Given the description of an element on the screen output the (x, y) to click on. 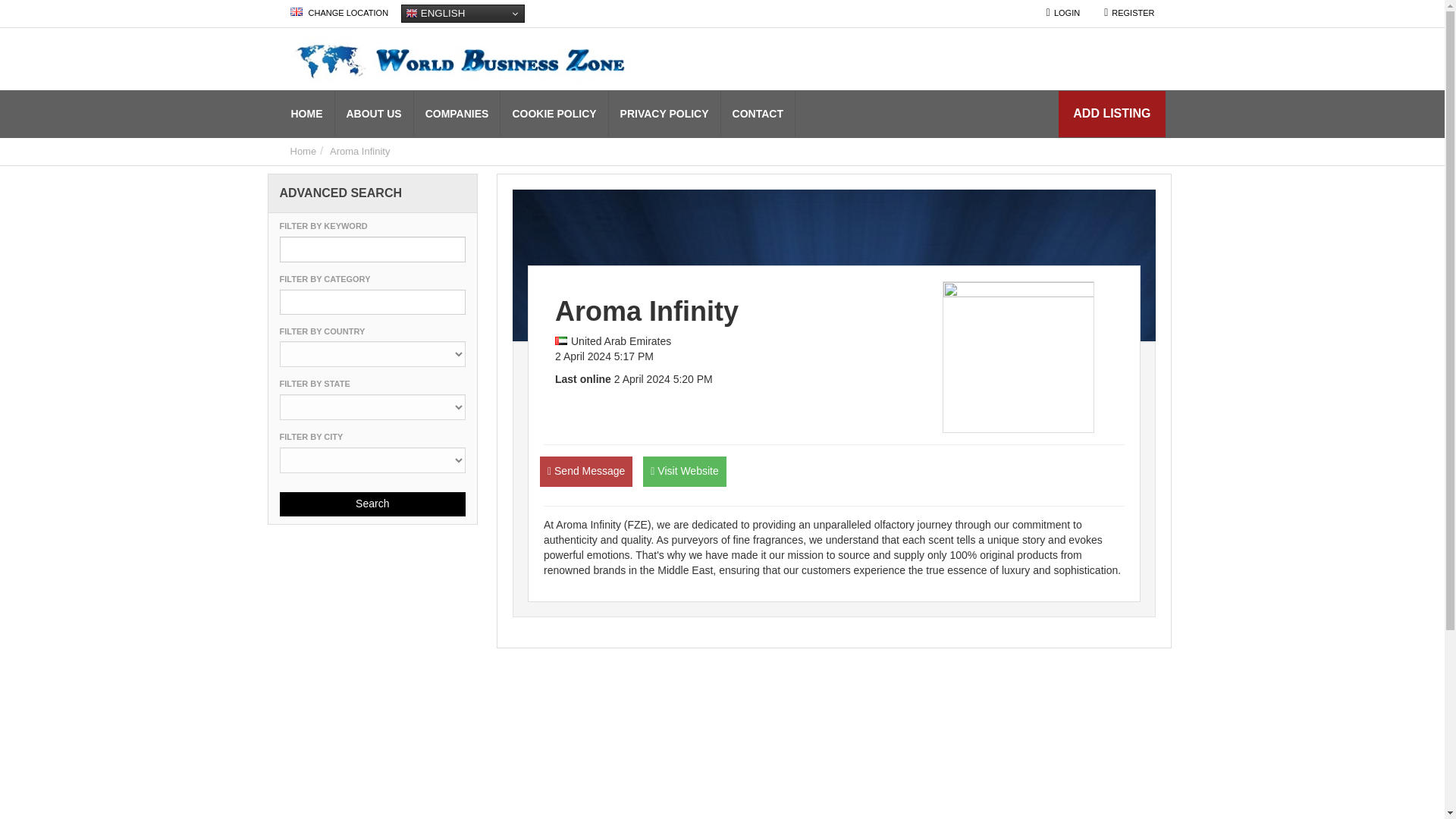
CHANGE LOCATION (339, 13)
REGISTER (1129, 13)
LOGIN (1062, 13)
